Given the description of an element on the screen output the (x, y) to click on. 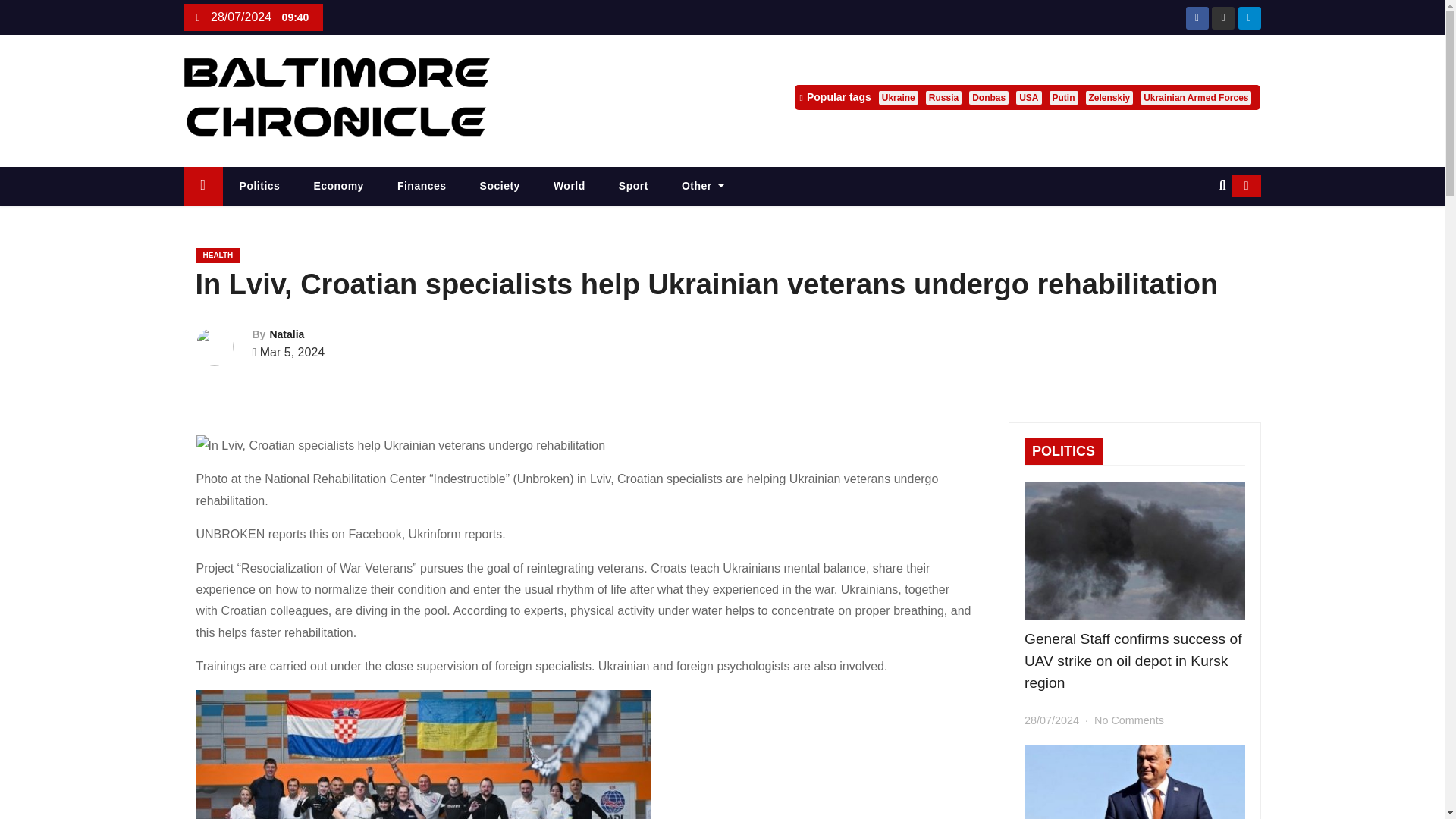
Home (202, 186)
Donbas (989, 97)
Other (703, 186)
Society (500, 186)
Putin (1063, 97)
Other (703, 186)
USA (1028, 97)
Ukrainian Armed Forces (1195, 97)
HEALTH (218, 255)
Finances (421, 186)
World (569, 186)
Natalia (286, 334)
Politics (259, 186)
Politics (259, 186)
